Given the description of an element on the screen output the (x, y) to click on. 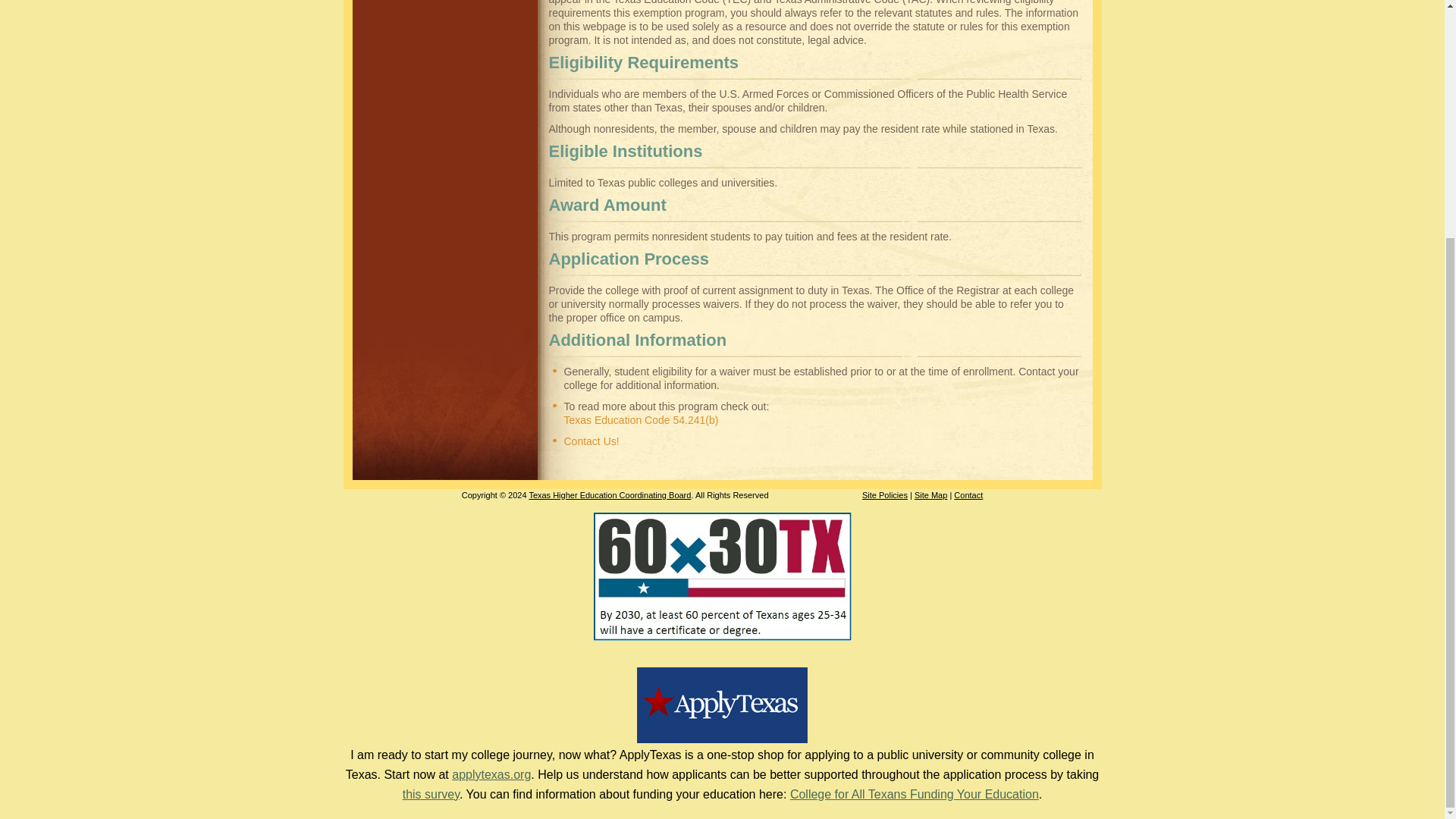
Apply Texas (722, 738)
60x30 (721, 635)
